Given the description of an element on the screen output the (x, y) to click on. 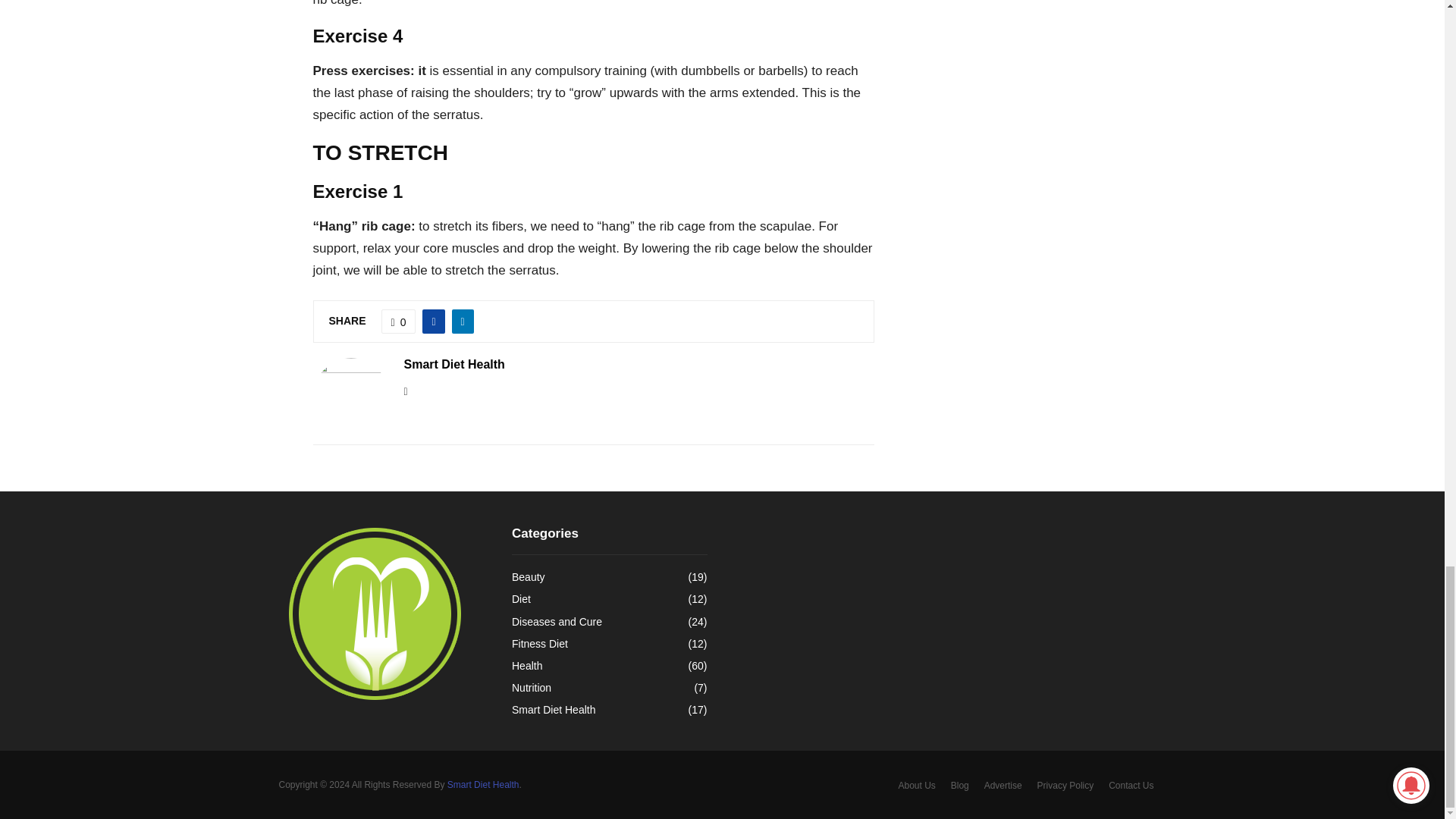
Like (398, 321)
0 (398, 321)
